Given the description of an element on the screen output the (x, y) to click on. 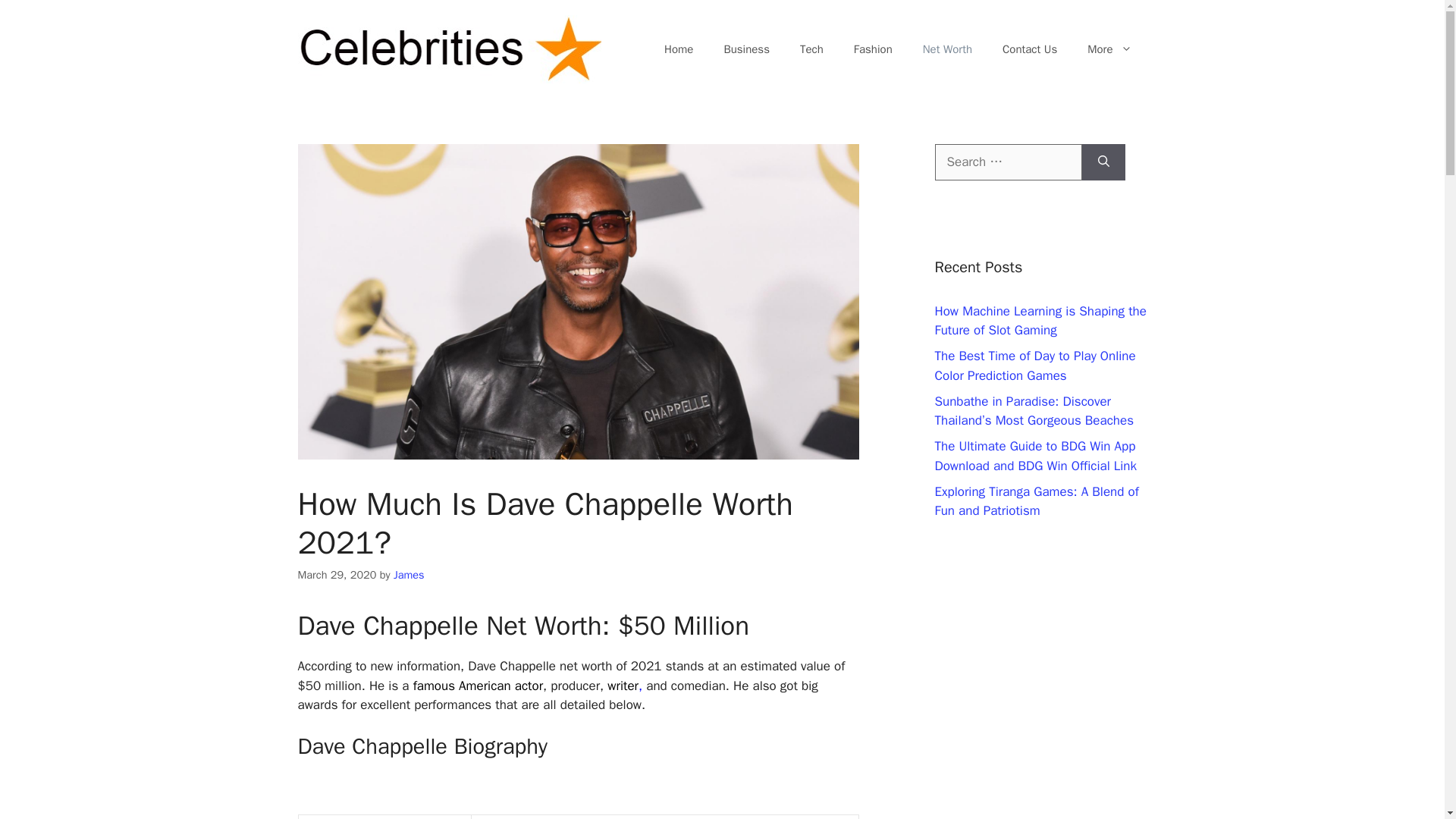
The Best Time of Day to Play Online Color Prediction Games (1034, 366)
Tech (811, 49)
Net Worth (947, 49)
Contact Us (1029, 49)
View all posts by James (409, 574)
How Machine Learning is Shaping the Future of Slot Gaming (1039, 321)
More (1109, 49)
James (409, 574)
Business (745, 49)
